Given the description of an element on the screen output the (x, y) to click on. 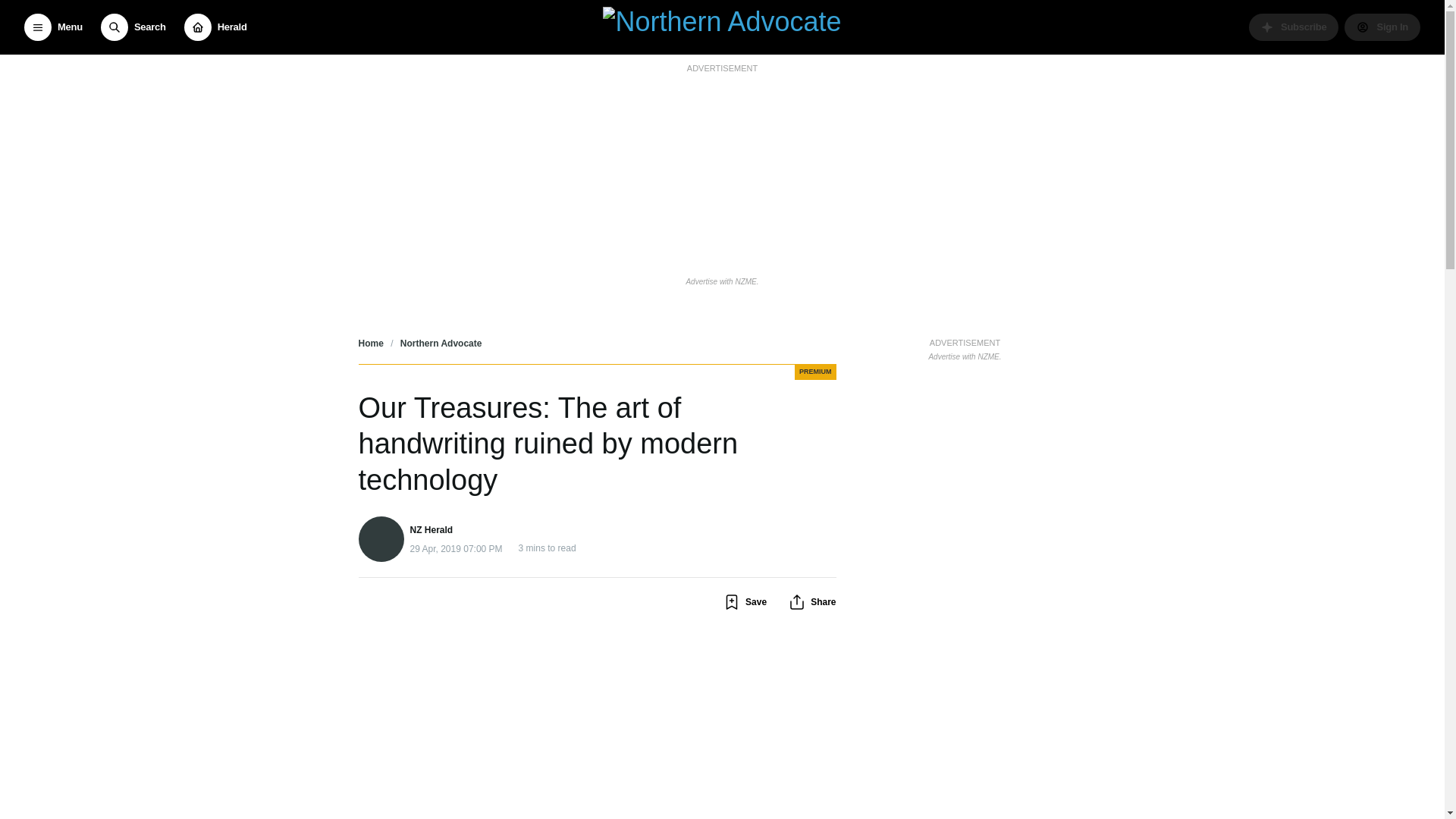
Sign In (1382, 26)
Advertise with NZME. (721, 281)
Herald (215, 26)
Manage your account (1382, 26)
Subscribe (1294, 26)
Northern Advocate (440, 343)
Save (744, 601)
Menu (53, 26)
Search (132, 26)
Home (370, 343)
